Given the description of an element on the screen output the (x, y) to click on. 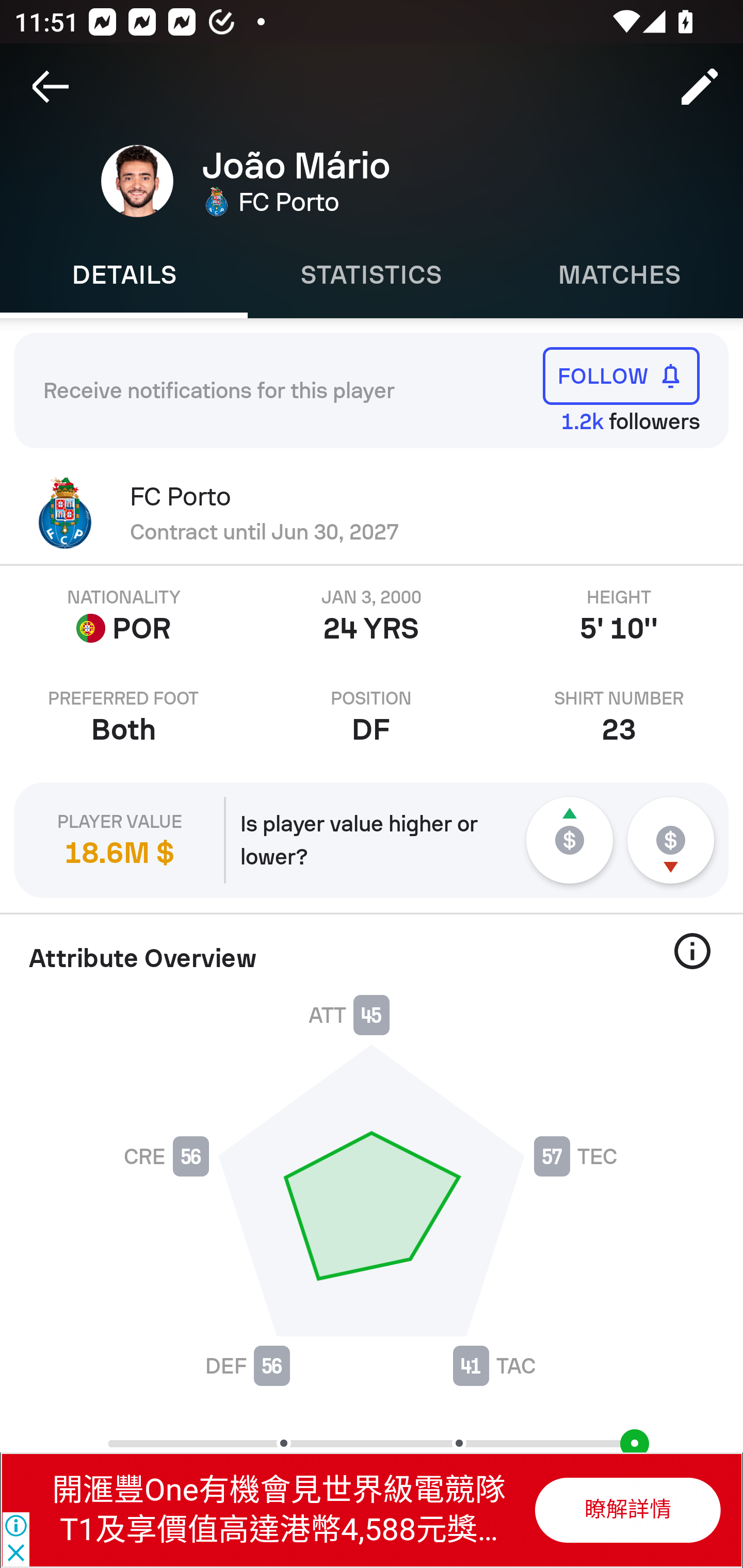
Navigate up (50, 86)
Edit (699, 86)
Statistics STATISTICS (371, 275)
Matches MATCHES (619, 275)
FOLLOW (621, 375)
FC Porto Contract until Jun 30, 2027 (371, 513)
NATIONALITY POR (123, 616)
POSITION DF (371, 717)
B31525787 (626, 1509)
